Given the description of an element on the screen output the (x, y) to click on. 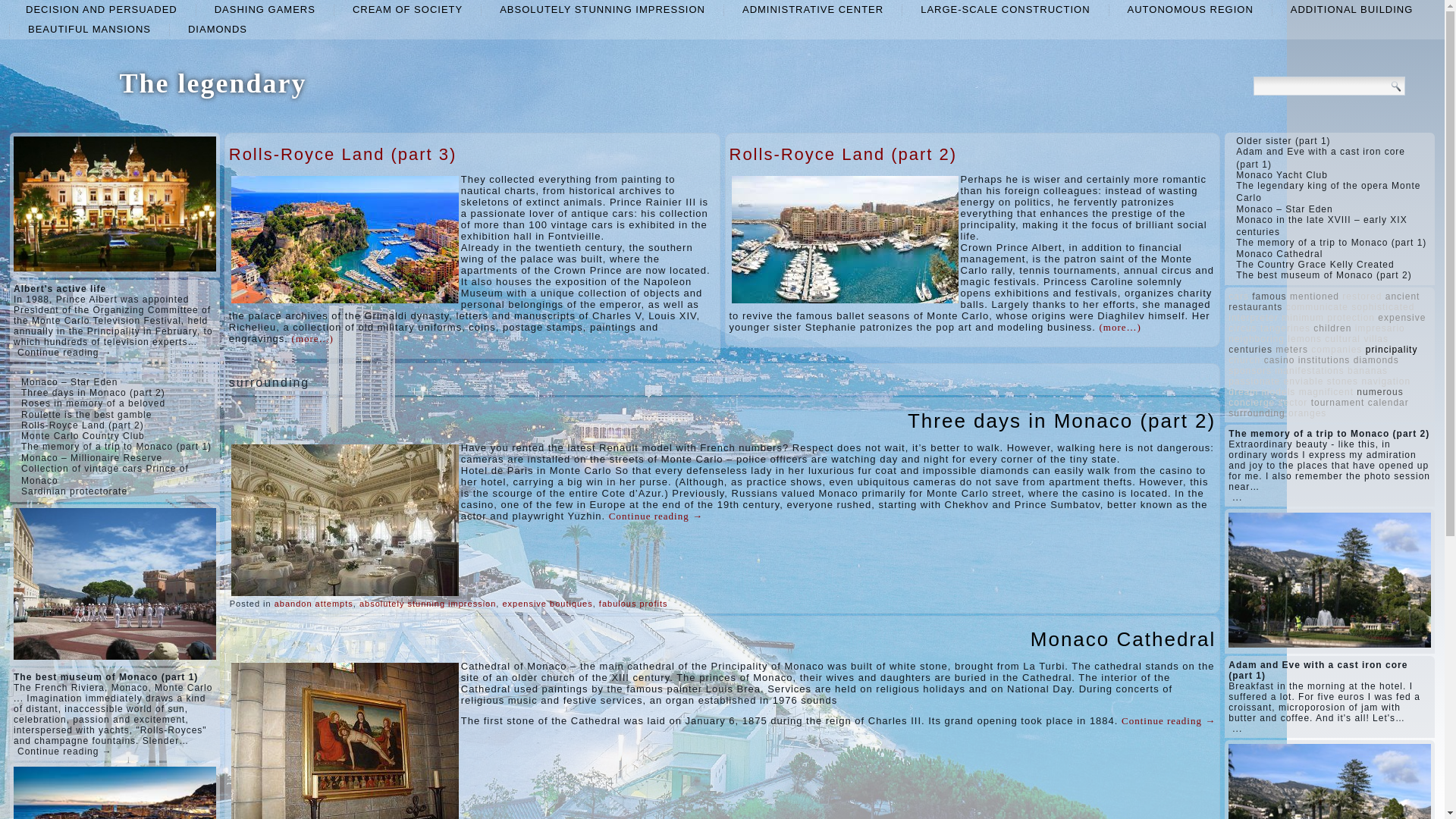
additional building (1351, 9)
Collection of vintage cars Prince of Monaco (105, 474)
DASHING GAMERS (264, 9)
Monte Carlo Country Club (82, 435)
administrative center (812, 9)
decision and persuaded (100, 9)
Monaco Cathedral (1122, 639)
BEAUTIFUL MANSIONS (89, 29)
ADMINISTRATIVE CENTER (812, 9)
diamonds (217, 29)
